Given the description of an element on the screen output the (x, y) to click on. 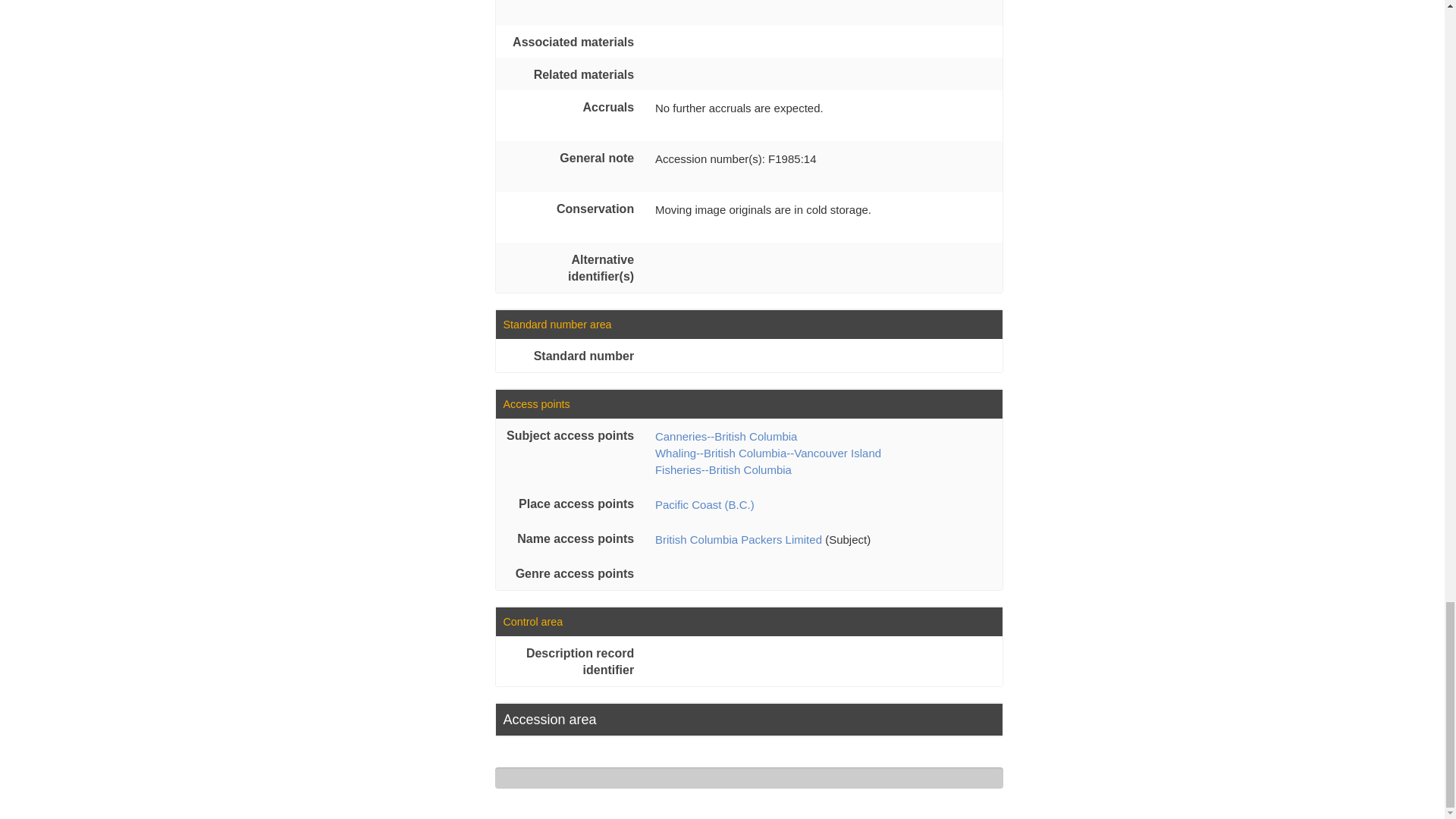
Canneries--British Columbia (726, 436)
Whaling--British Columbia--Vancouver Island (767, 452)
Fisheries--British Columbia (723, 469)
